Given the description of an element on the screen output the (x, y) to click on. 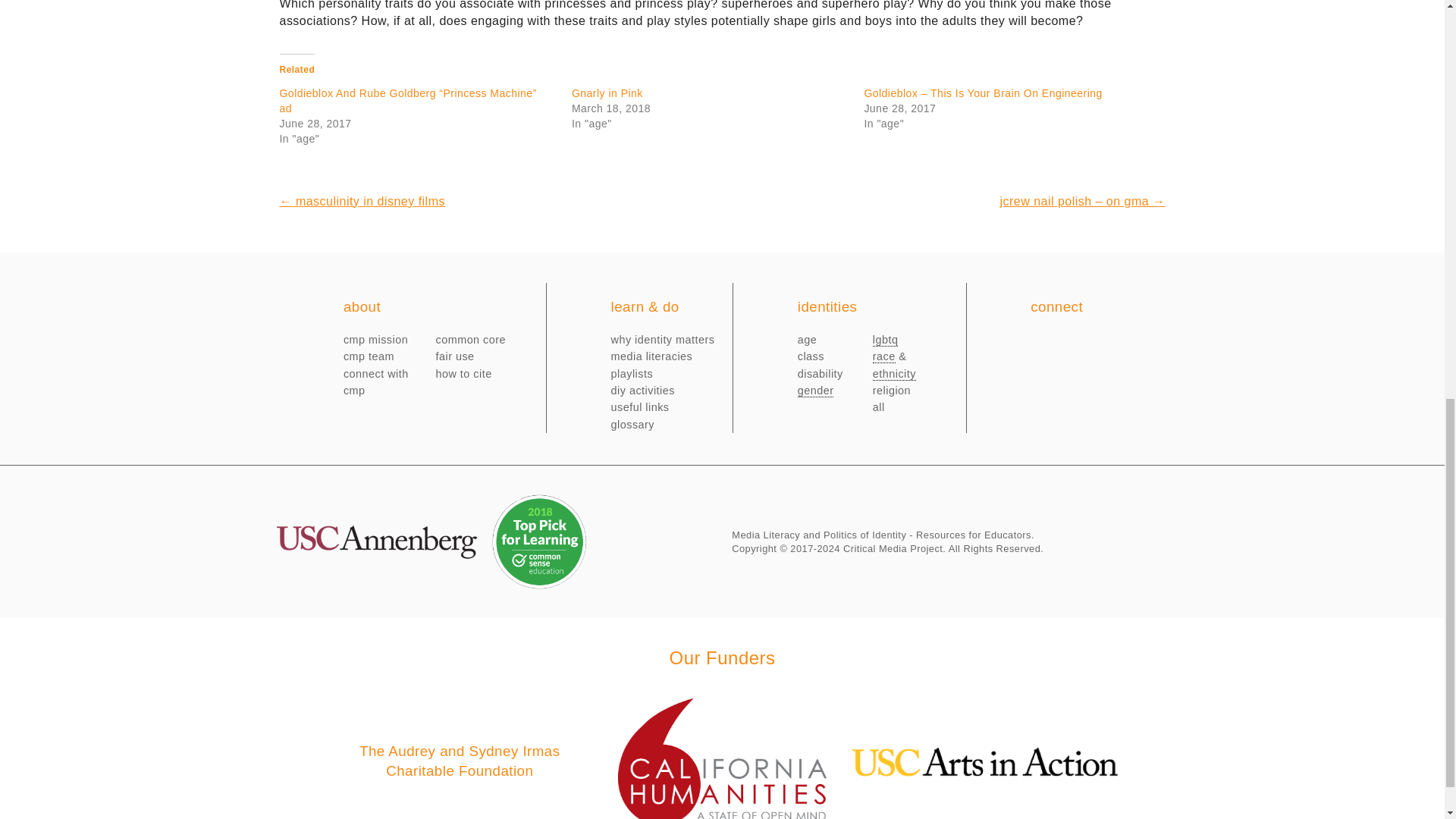
Gnarly in Pink (607, 92)
